Given the description of an element on the screen output the (x, y) to click on. 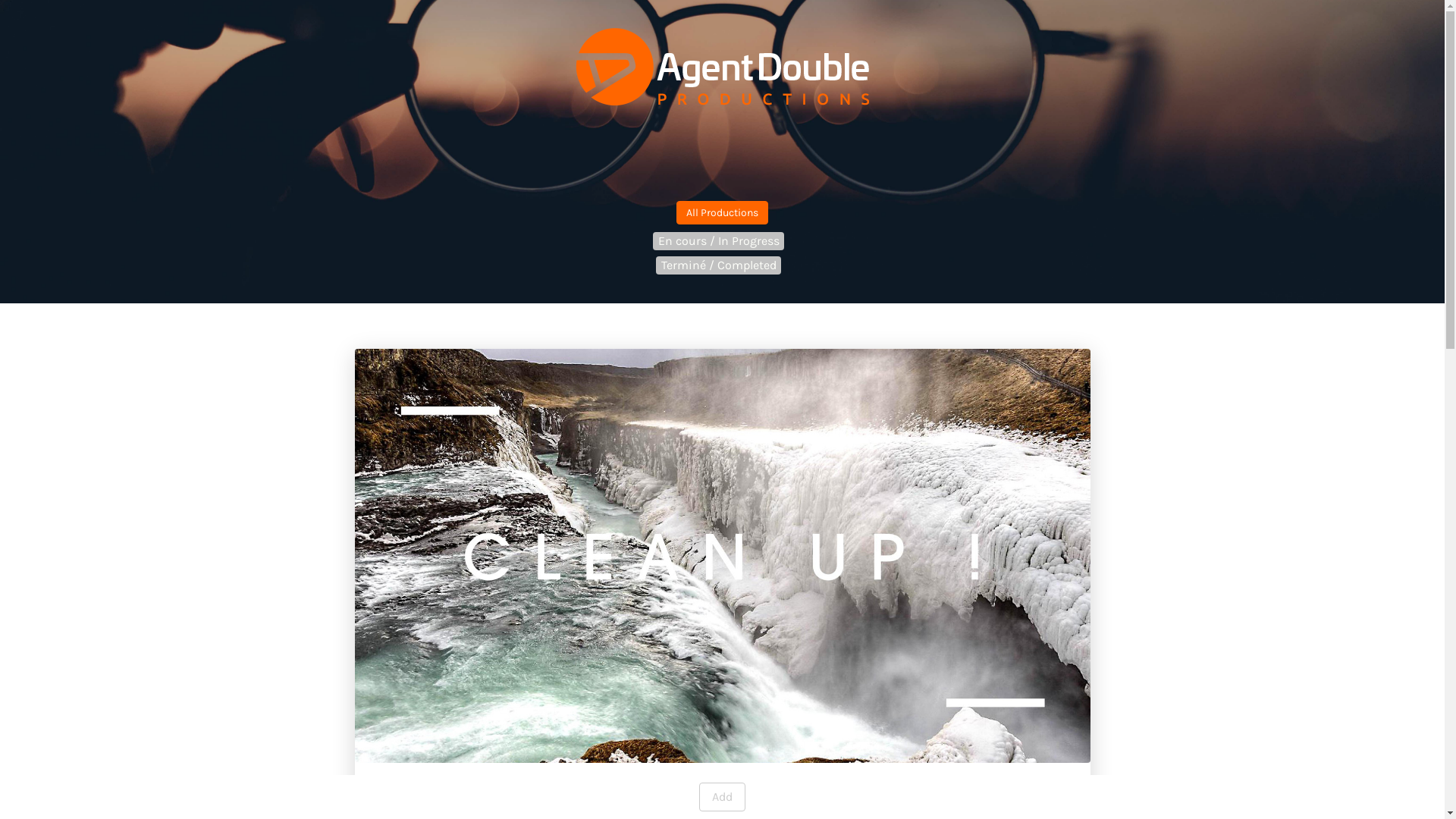
Add Element type: text (722, 796)
All Productions Element type: text (722, 212)
En cours / In Progress Element type: text (718, 241)
